Given the description of an element on the screen output the (x, y) to click on. 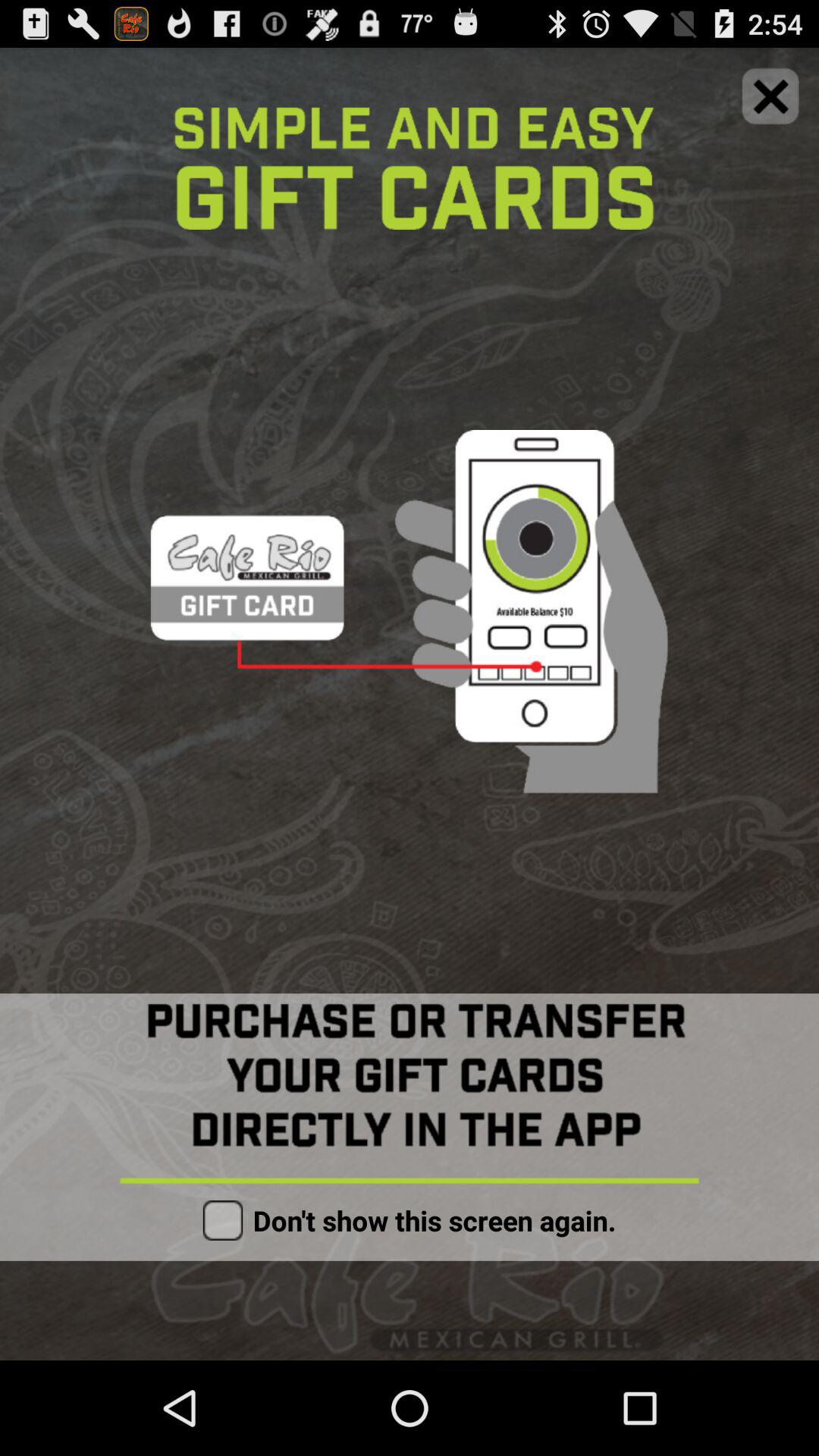
close screen (770, 95)
